Given the description of an element on the screen output the (x, y) to click on. 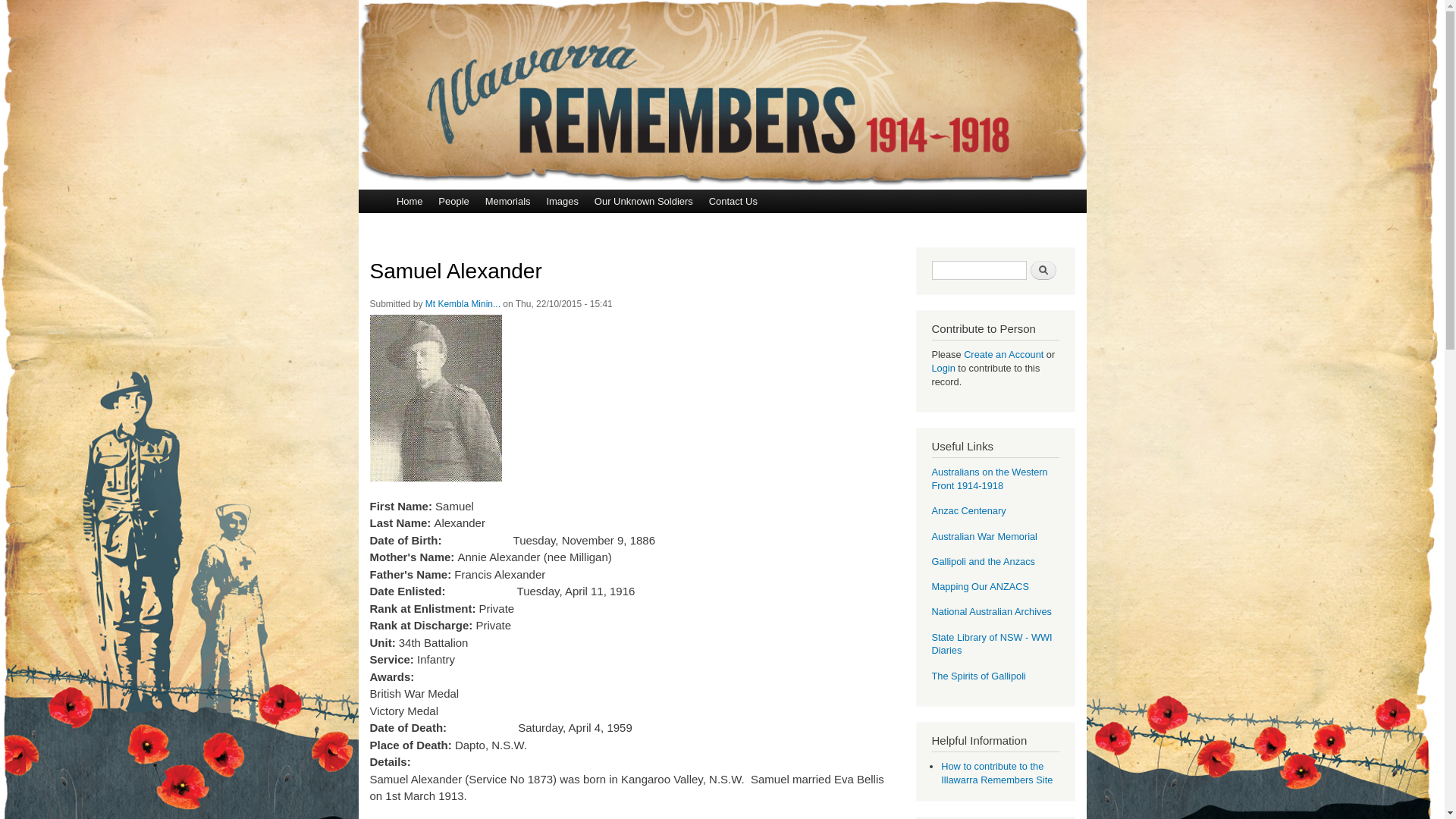
Create an Account Element type: text (1003, 354)
Australian War Memorial Element type: text (983, 536)
Skip to main content Element type: text (690, 1)
State Library of NSW - WWI Diaries Element type: text (991, 643)
Anzac Centenary Element type: text (968, 510)
Search Element type: text (1043, 269)
Login  Element type: text (944, 367)
Contact Us Element type: text (732, 201)
The Spirits of Gallipoli Element type: text (978, 675)
Home Element type: text (408, 201)
Enter the terms you wish to search for. Element type: hover (978, 269)
Memorials Element type: text (507, 201)
National Australian Archives Element type: text (991, 611)
Australians on the Western Front 1914-1918 Element type: text (989, 478)
Mapping Our ANZACS Element type: text (980, 586)
How to contribute to the Illawarra Remembers Site Element type: text (996, 772)
Mt Kembla Minin... Element type: text (462, 303)
Gallipoli and the Anzacs Element type: text (982, 561)
People Element type: text (453, 201)
Our Unknown Soldiers Element type: text (643, 201)
Images Element type: text (562, 201)
